Given the description of an element on the screen output the (x, y) to click on. 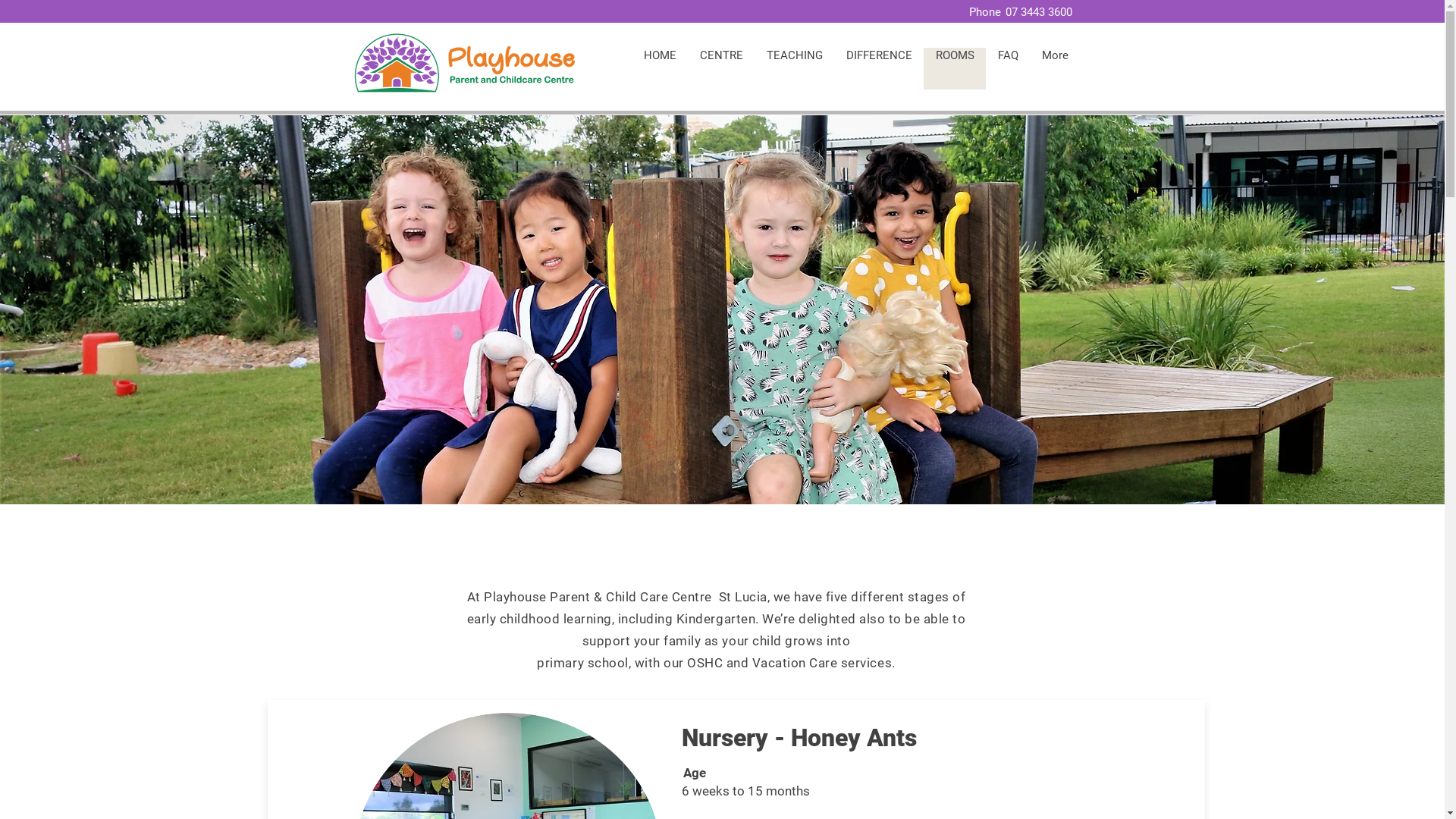
FAQ Element type: text (1007, 68)
HOME Element type: text (659, 68)
DIFFERENCE Element type: text (878, 68)
TEACHING Element type: text (794, 68)
ROOMS Element type: text (954, 68)
CENTRE Element type: text (720, 68)
